Given the description of an element on the screen output the (x, y) to click on. 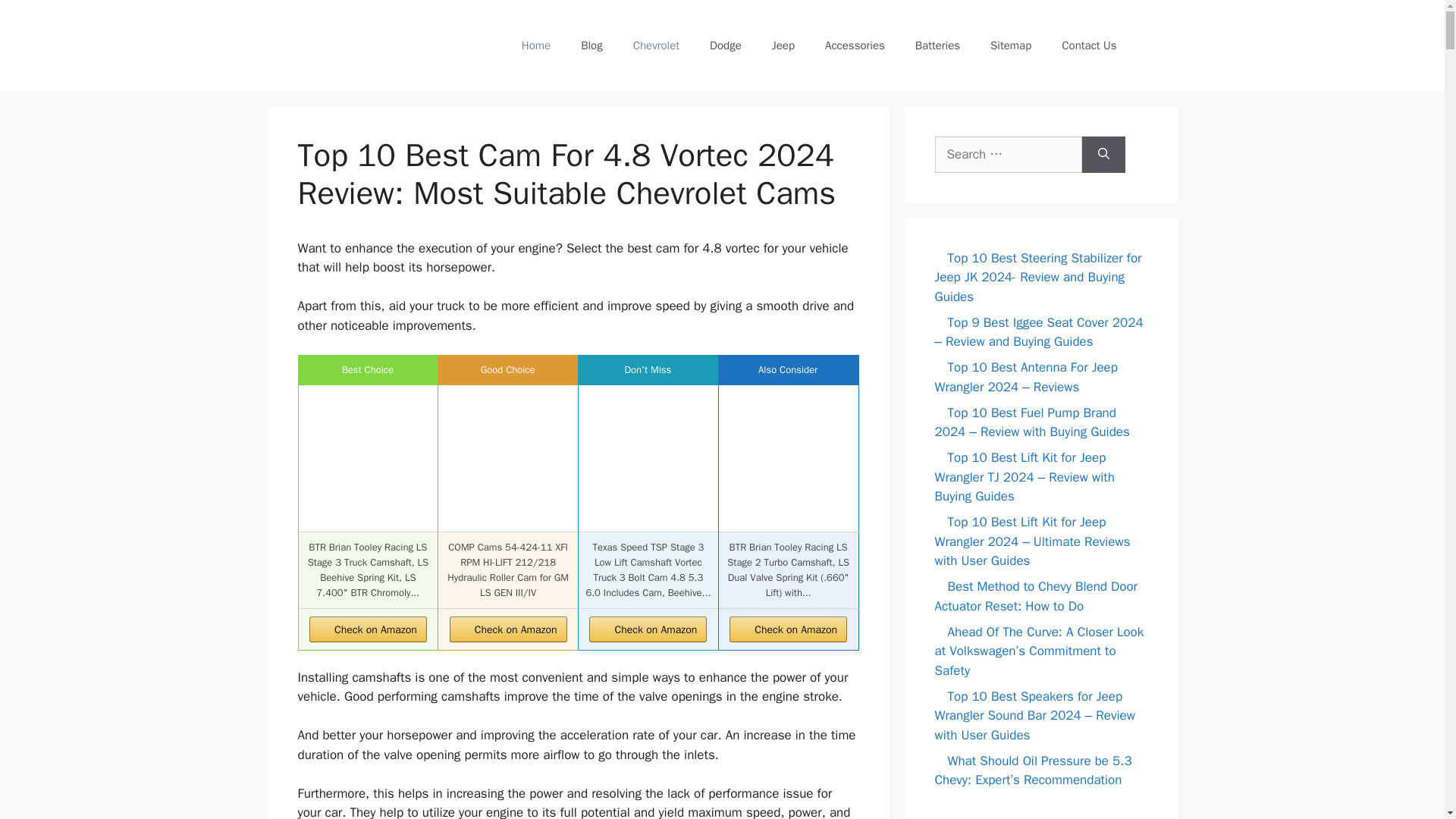
Home (536, 44)
Check on Amazon (647, 629)
Blog (591, 44)
Check on Amazon (788, 629)
Check on Amazon (508, 629)
Check on Amazon (508, 629)
Sitemap (1010, 44)
Chevrolet (655, 44)
Jeep (783, 44)
Dodge (725, 44)
Check on Amazon (367, 629)
